Given the description of an element on the screen output the (x, y) to click on. 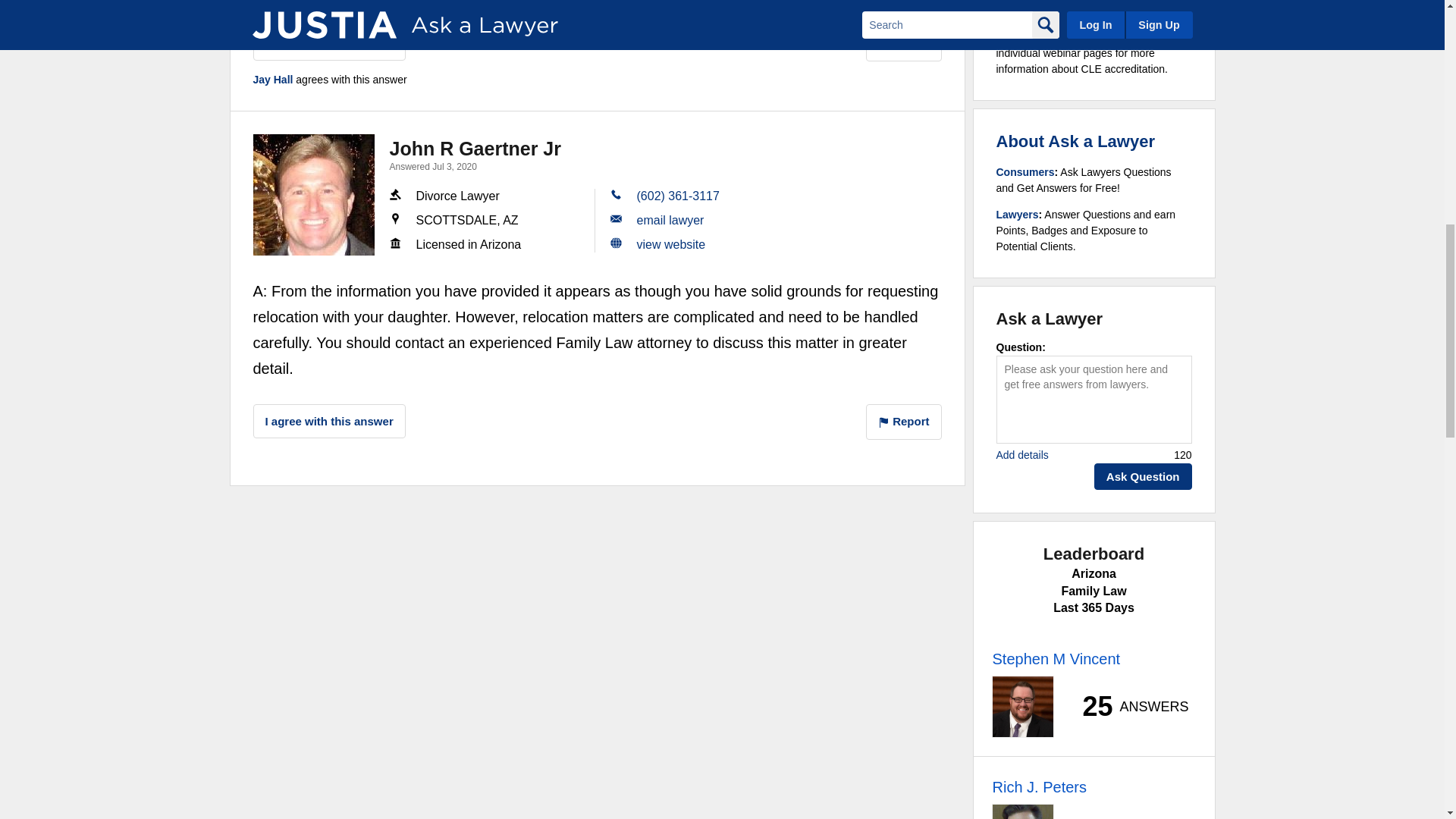
Ask a Lawyer - Leaderboard - Lawyer Photo (1021, 706)
Ask a Lawyer - Leaderboard - Lawyer Name (1038, 786)
John R Gaertner Jr (313, 194)
Ask a Lawyer - Leaderboard - Lawyer Name (1055, 658)
Ask a Lawyer - Leaderboard - Lawyer Photo (1021, 811)
Ask a Lawyer - Leaderboard - Lawyer Stats (1127, 706)
Ask a Lawyer - FAQs - Lawyers (1017, 214)
Ask a Lawyer - FAQs - Consumers (1024, 172)
